Given the description of an element on the screen output the (x, y) to click on. 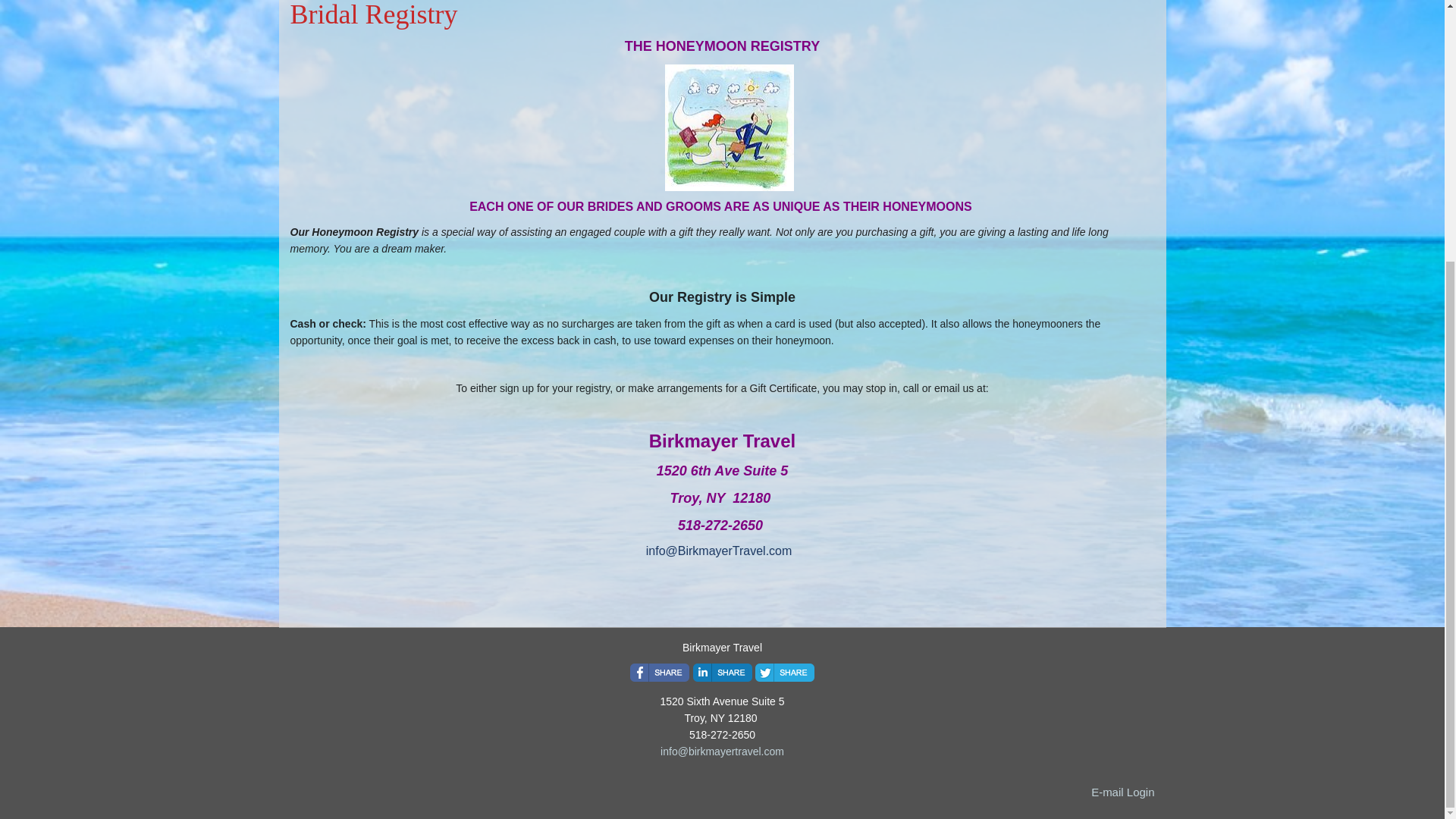
Share this page to Twitter (784, 672)
Share this page to Facebook (659, 672)
Share this page to LinkedIn (722, 672)
